Given the description of an element on the screen output the (x, y) to click on. 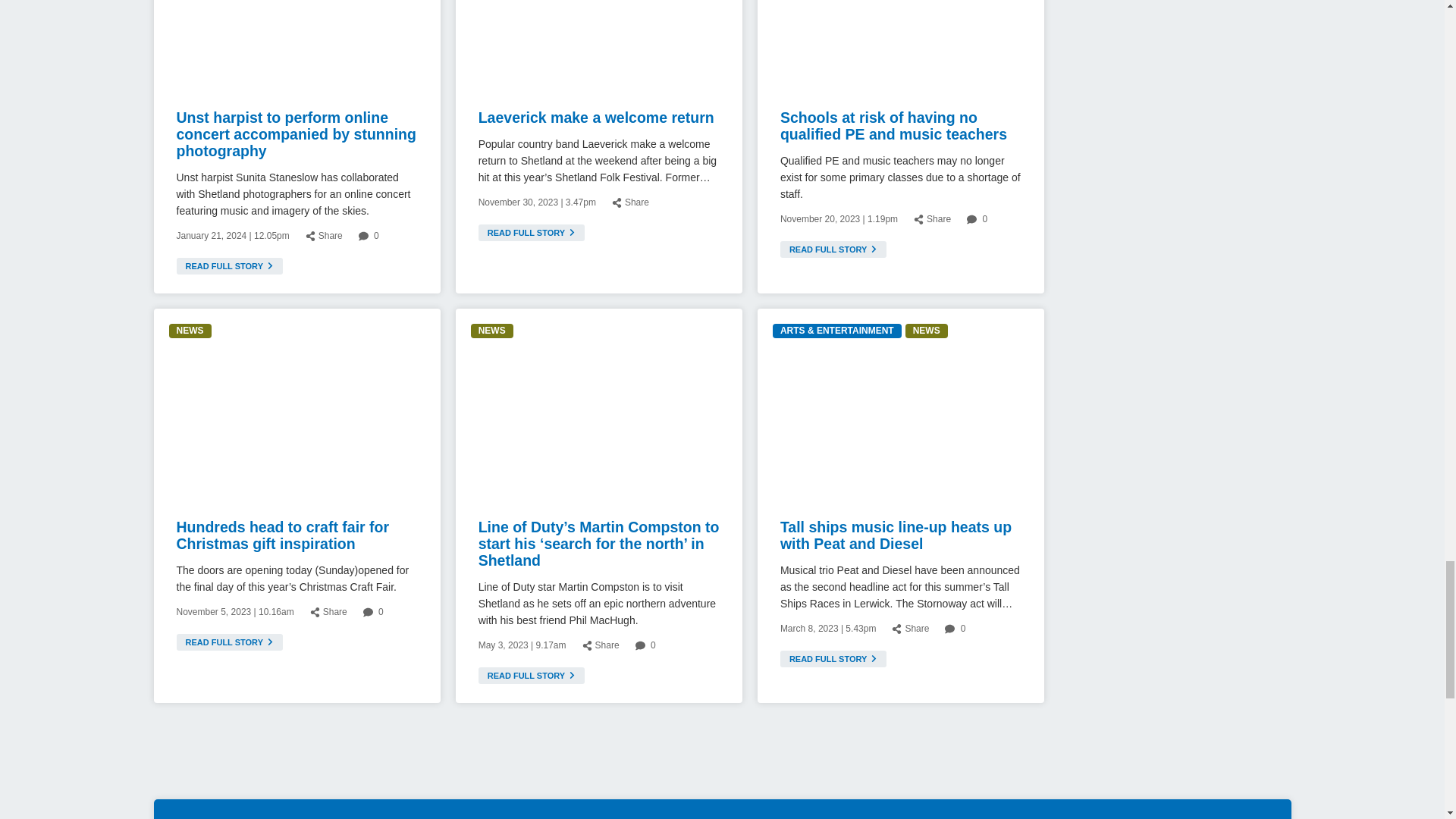
0 (368, 235)
READ FULL STORY (229, 265)
